Given the description of an element on the screen output the (x, y) to click on. 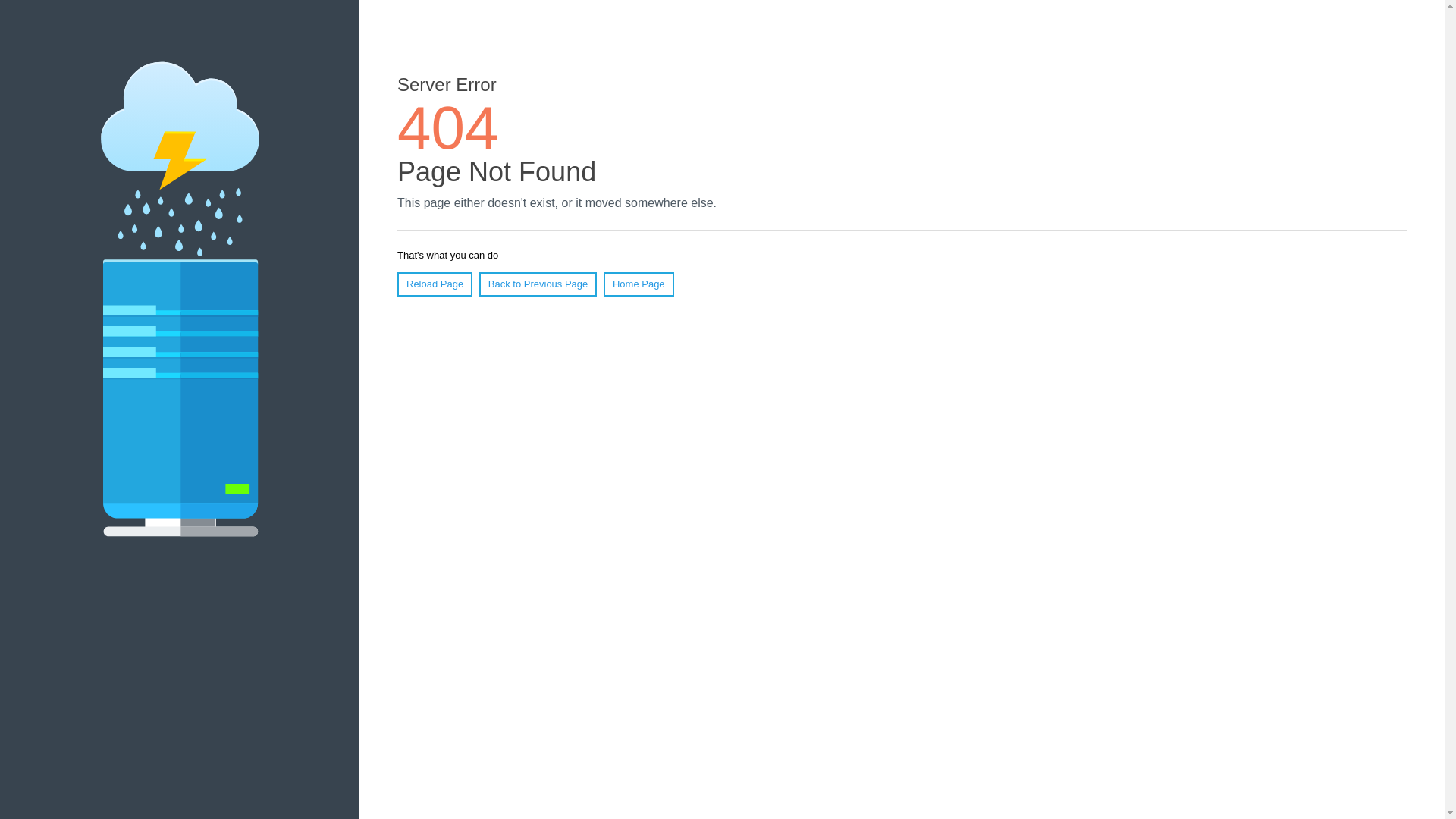
Back to Previous Page Element type: text (538, 284)
Reload Page Element type: text (434, 284)
Home Page Element type: text (638, 284)
